Given the description of an element on the screen output the (x, y) to click on. 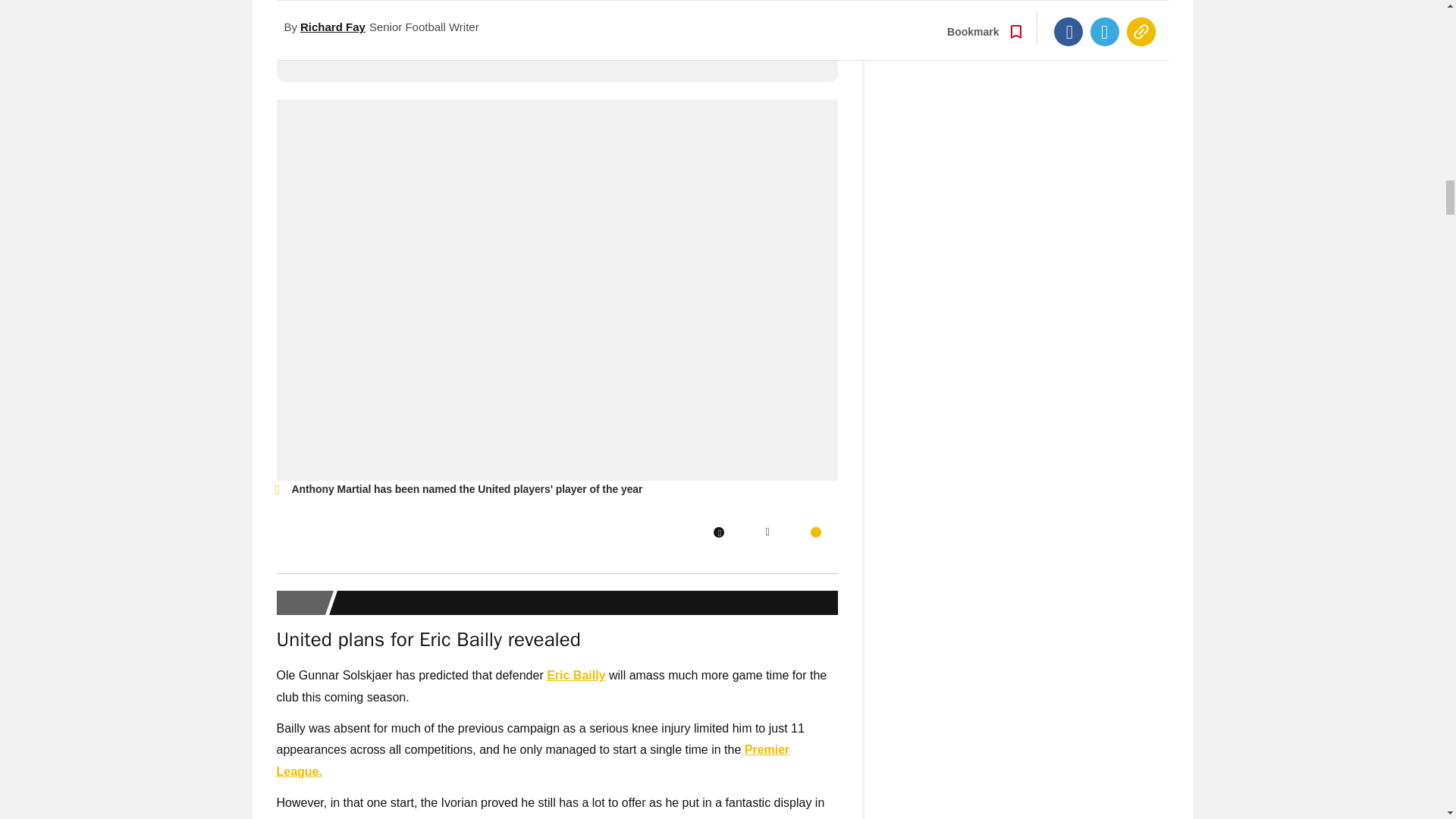
Facebook (718, 532)
